Given the description of an element on the screen output the (x, y) to click on. 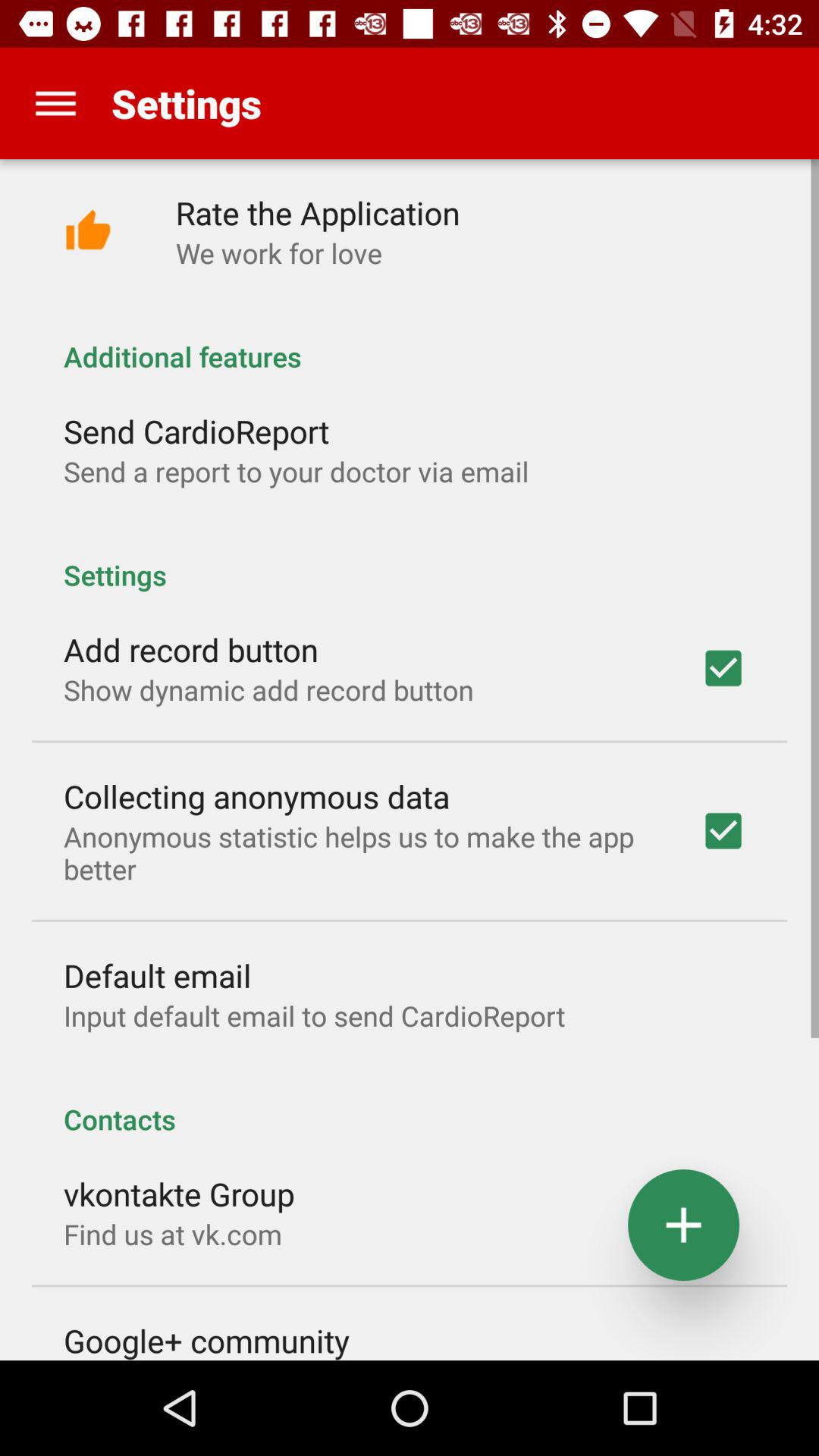
turn on show dynamic add app (268, 689)
